Given the description of an element on the screen output the (x, y) to click on. 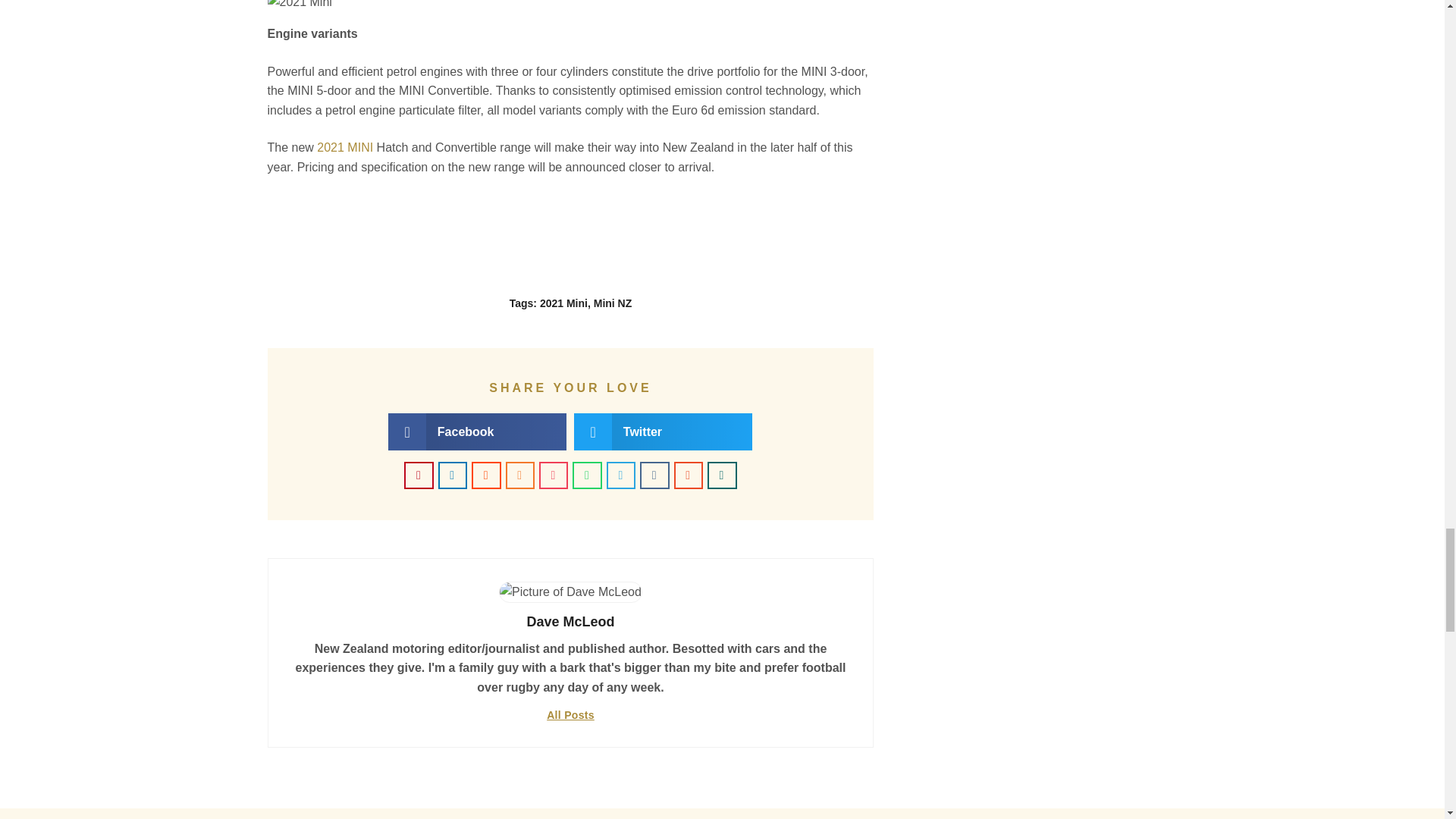
All Posts (570, 715)
2021 MINI (344, 146)
Mini NZ (612, 303)
2021 Mini (564, 303)
